Given the description of an element on the screen output the (x, y) to click on. 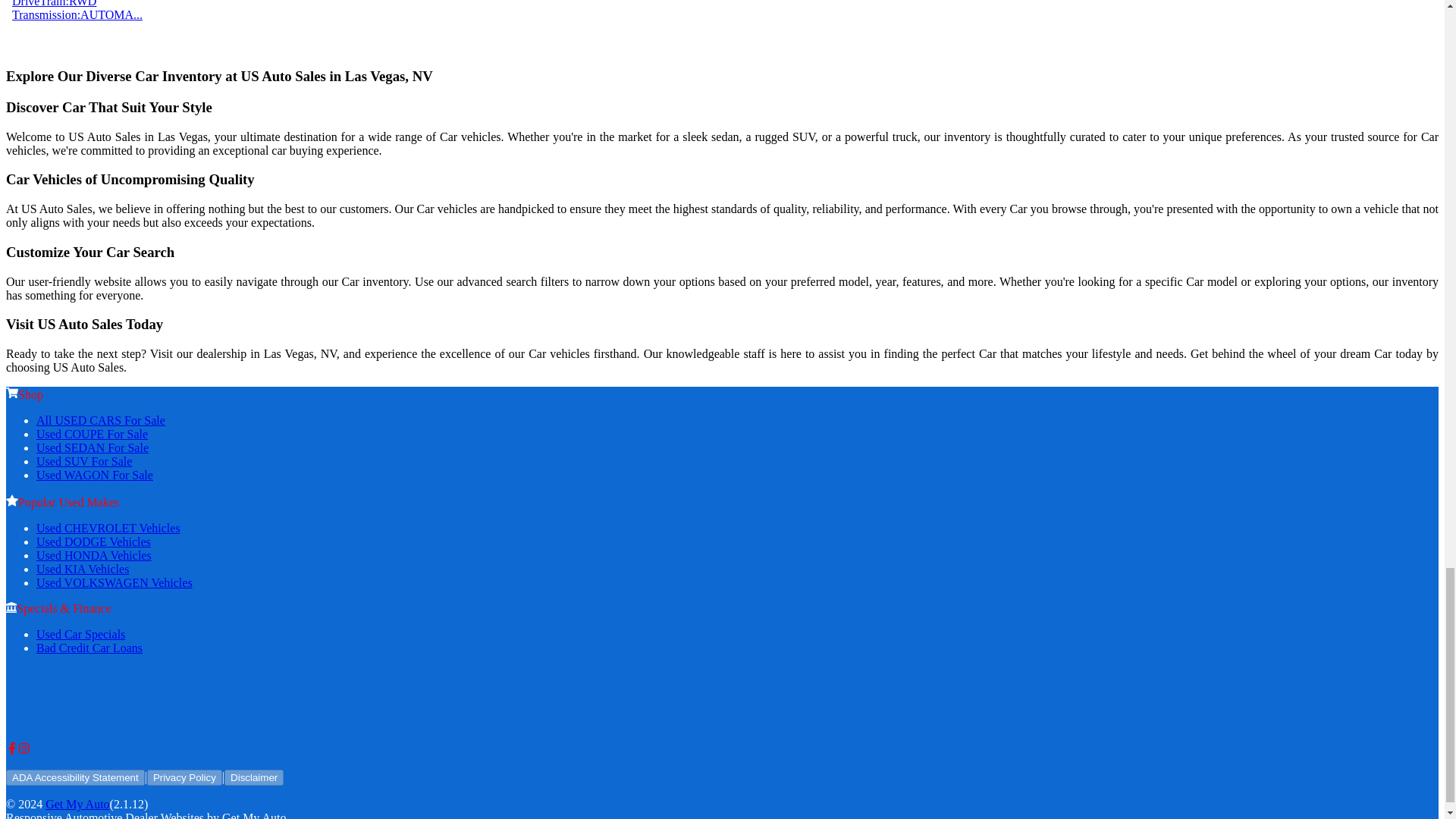
Used CHEVROLET Vehicles (108, 527)
ADA Accessibility Statement (74, 777)
Used KIA Vehicles (82, 568)
Show me the Carfax (49, 33)
Used DODGE Vehicles (93, 541)
Used COUPE For Sale (92, 433)
Bad Credit Car Loans (89, 647)
Used SEDAN For Sale (92, 447)
All USED CARS For Sale (100, 420)
Used SUV For Sale (84, 461)
Used Car Specials (80, 634)
Used HONDA Vehicles (93, 554)
Used VOLKSWAGEN Vehicles (114, 582)
Used WAGON For Sale (94, 474)
